Given the description of an element on the screen output the (x, y) to click on. 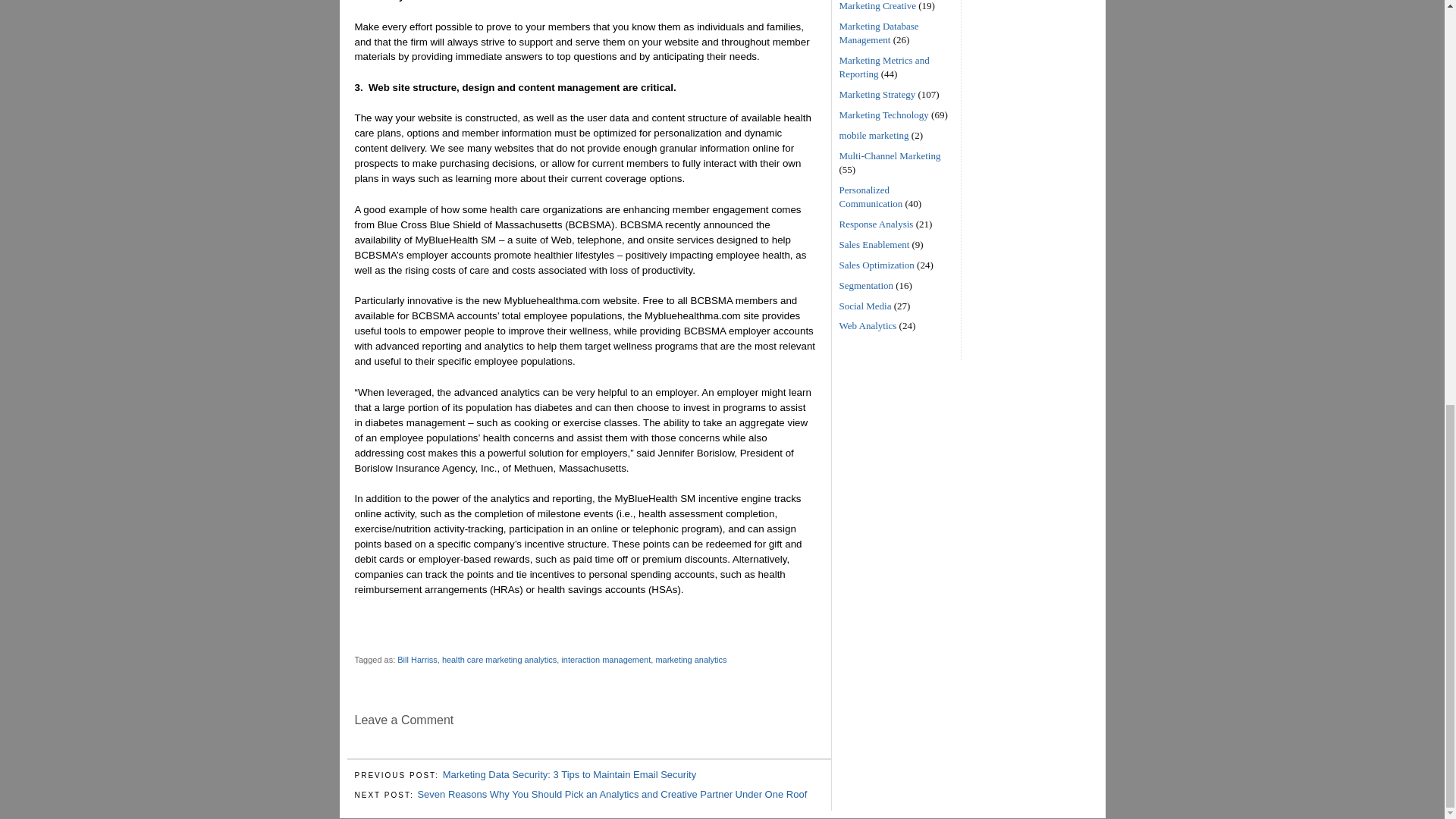
Response Analysis (875, 224)
Marketing Data Security: 3 Tips to Maintain Email Security (569, 774)
Segmentation (865, 285)
Marketing Database Management (878, 32)
Social Media (864, 305)
Bill Harriss (416, 659)
interaction management (605, 659)
Marketing Creative (876, 5)
Marketing Strategy (876, 93)
marketing analytics (690, 659)
Marketing Metrics and Reporting (883, 66)
Personalized Communication (870, 196)
Sales Optimization (876, 265)
Multi-Channel Marketing (889, 155)
